Given the description of an element on the screen output the (x, y) to click on. 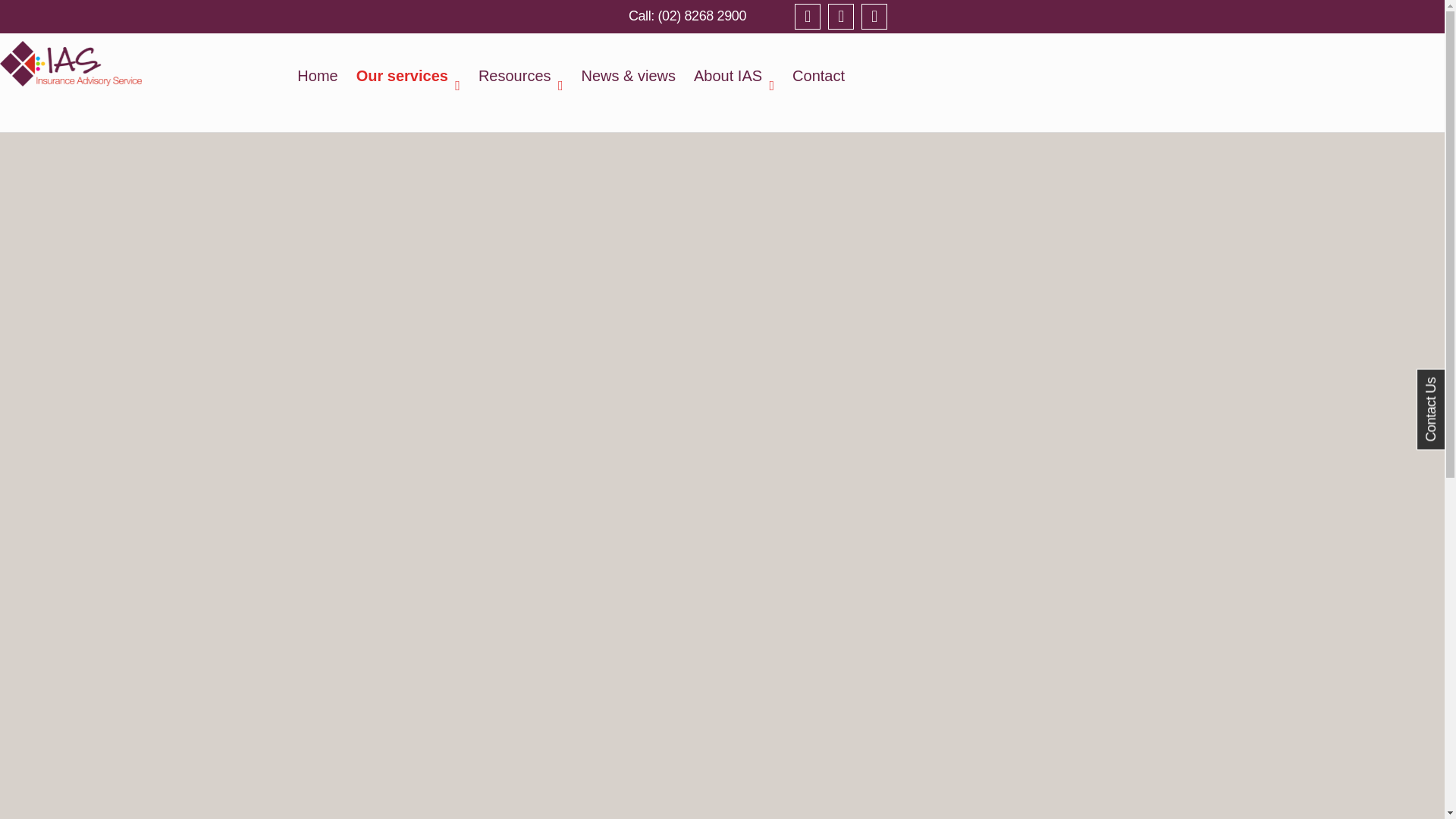
Facebook: Link will open in a new window/tab Element type: hover (807, 16)
About IAS Element type: text (733, 66)
(02) 8268 2900 Element type: text (687, 15)
Instagram: Link will open in a new window/tab Element type: hover (874, 16)
LinkedIn: Link will open in a new window/tab Element type: hover (840, 16)
Resources Element type: text (520, 66)
News & views Element type: text (628, 66)
Our services Element type: text (408, 66)
Contact Element type: text (813, 66)
Home Element type: text (321, 66)
